Given the description of an element on the screen output the (x, y) to click on. 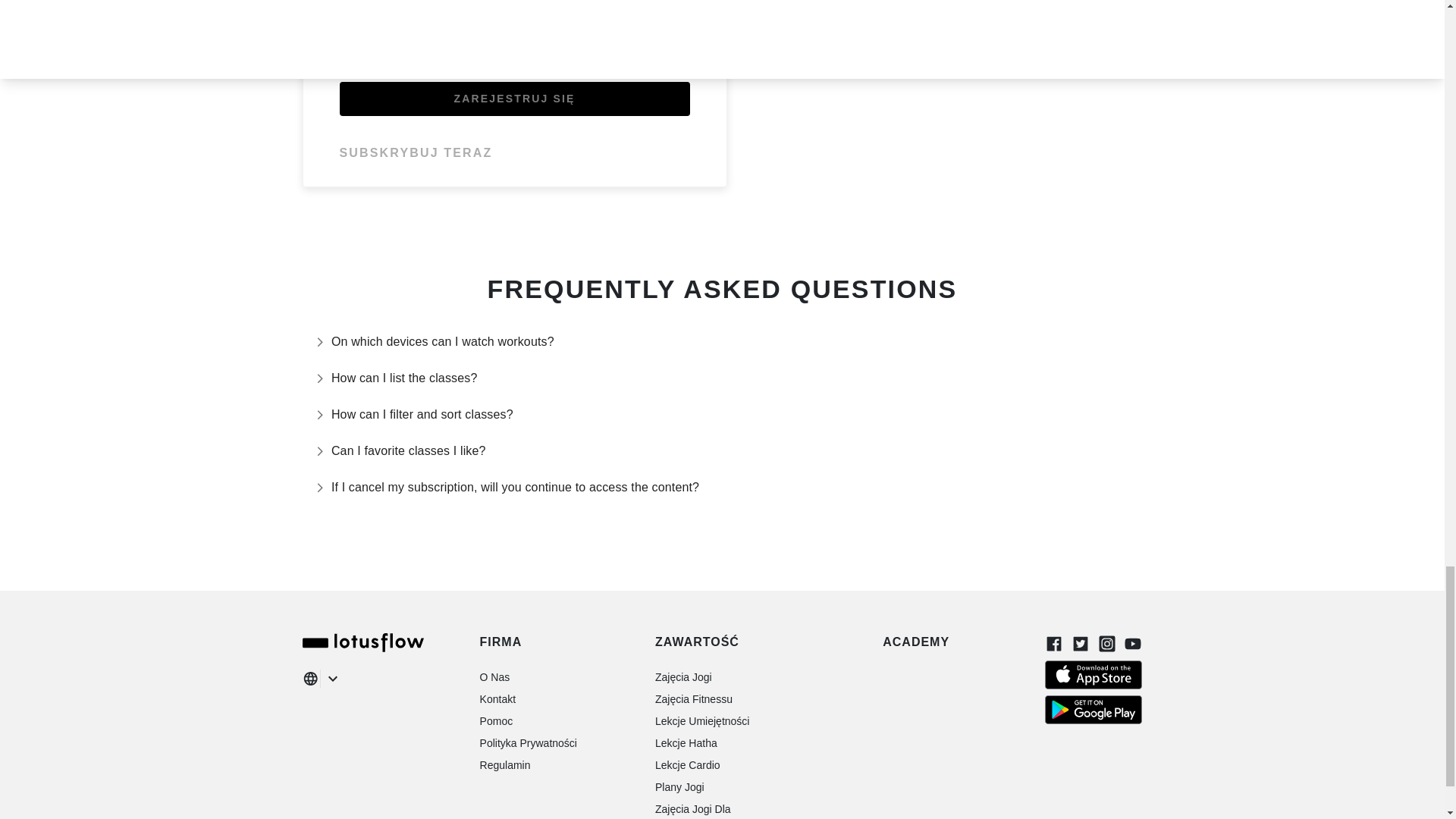
Regulamin (505, 765)
O Nas (495, 676)
Lekcje Hatha (686, 743)
Pomoc (496, 720)
Lekcje Cardio (687, 765)
Kontakt (497, 698)
Plany Jogi (679, 787)
